Given the description of an element on the screen output the (x, y) to click on. 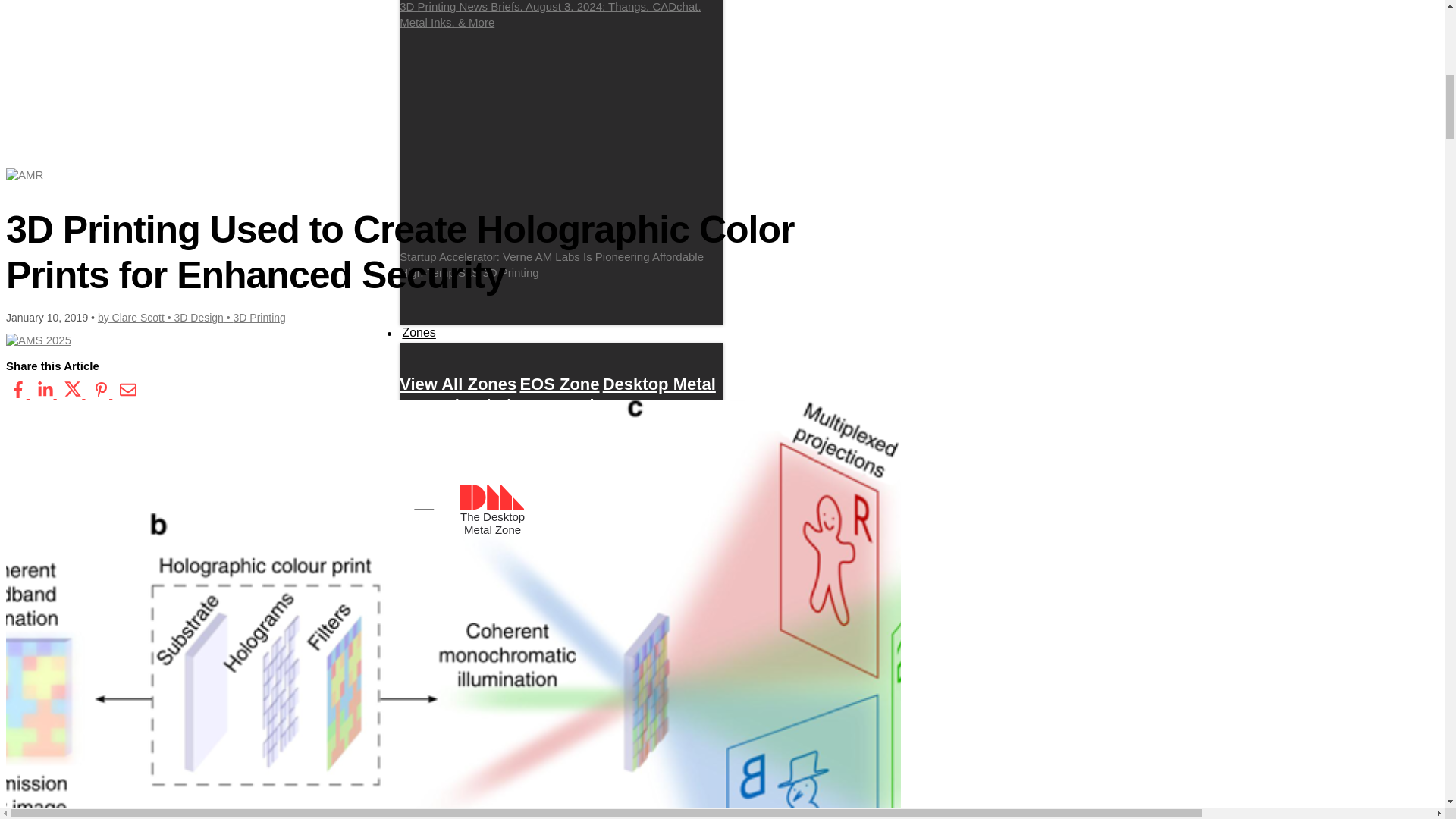
EOS Zone (558, 383)
The HP Zone (449, 447)
The Space Zone (567, 447)
View All Zones (457, 383)
Zones (418, 332)
The Desktop Metal Zone (491, 509)
Desktop Metal Zone (557, 394)
3D Printing Stocks Zone (527, 457)
Bioprinting Zone (509, 405)
The 3D Systems Zone (552, 415)
